Given the description of an element on the screen output the (x, y) to click on. 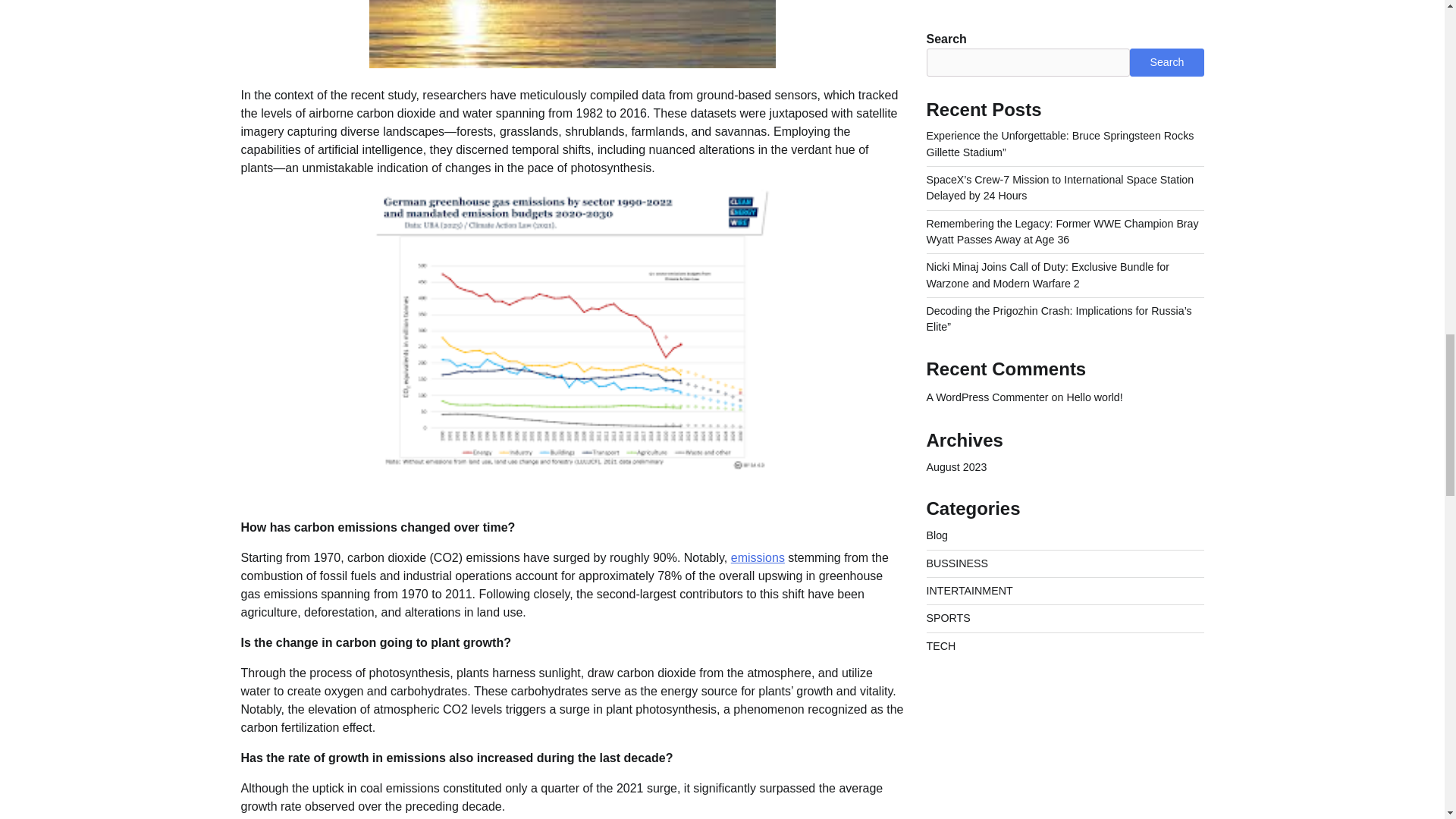
emissions (757, 557)
